Given the description of an element on the screen output the (x, y) to click on. 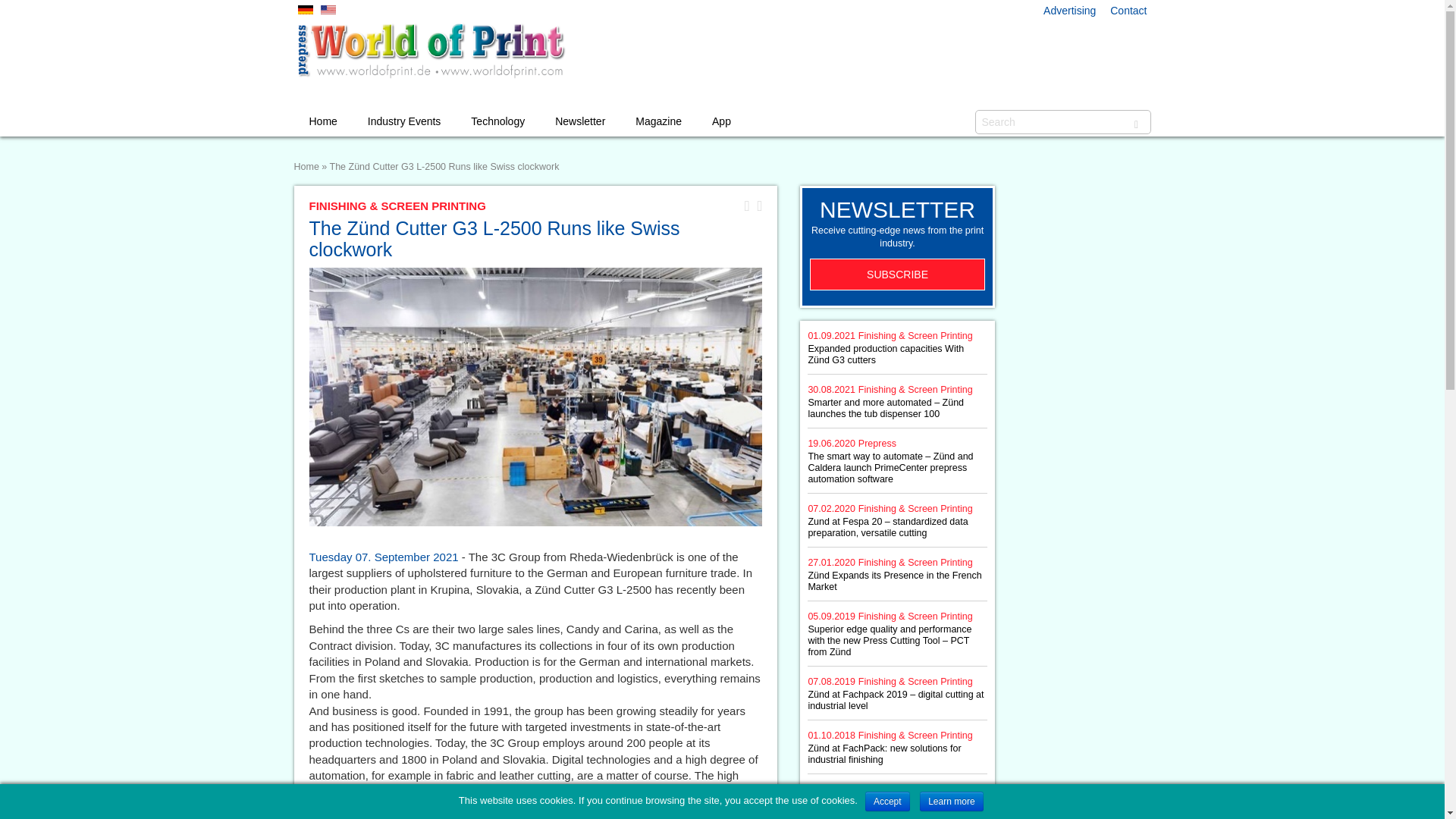
Industry Events (404, 121)
Contact (1128, 11)
Advertising (1069, 11)
Home (323, 121)
